Given the description of an element on the screen output the (x, y) to click on. 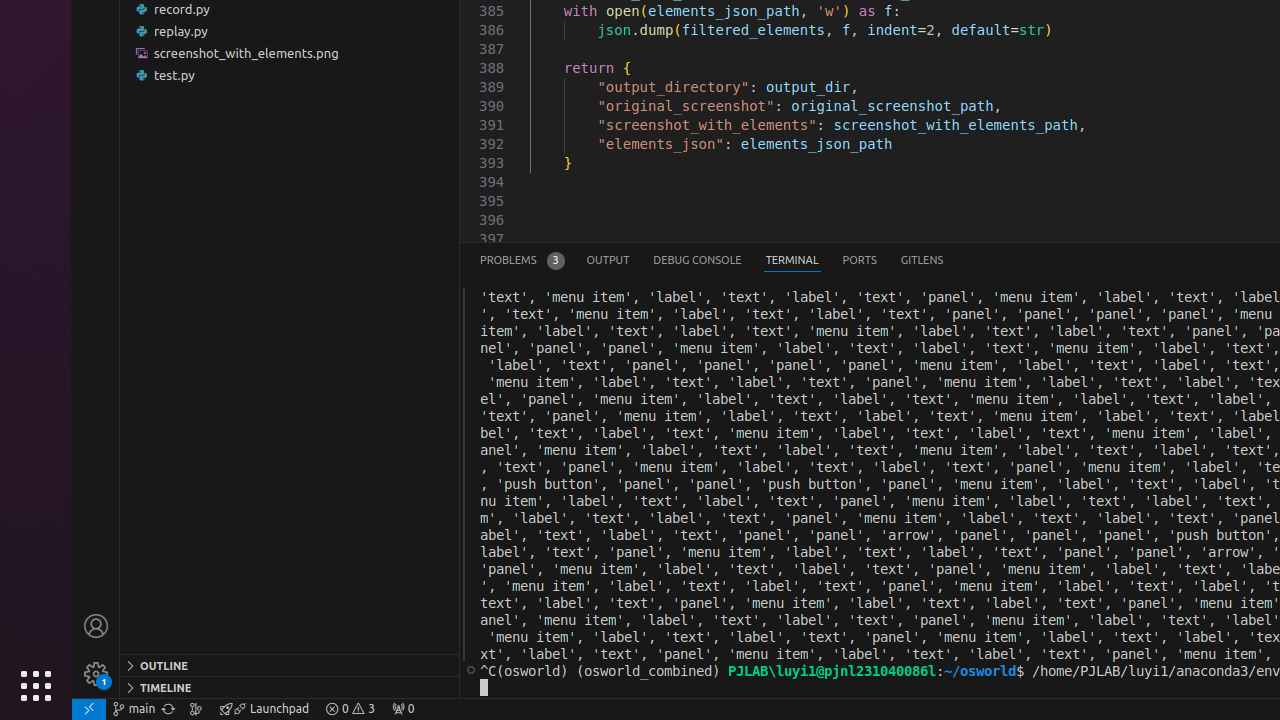
rocket gitlens-unplug Launchpad, GitLens Launchpad ᴘʀᴇᴠɪᴇᴡ    &mdash;    [$(question)](command:gitlens.launchpad.indicator.action?%22info%22 "What is this?") [$(gear)](command:workbench.action.openSettings?%22gitlens.launchpad%22 "Settings")  |  [$(circle-slash) Hide](command:gitlens.launchpad.indicator.action?%22hide%22 "Hide") --- [Launchpad](command:gitlens.launchpad.indicator.action?%info%22 "Learn about Launchpad") organizes your pull requests into actionable groups to help you focus and keep your team unblocked. It's always accessible using the `GitLens: Open Launchpad` command from the Command Palette. --- [Connect an integration](command:gitlens.showLaunchpad?%7B%22source%22%3A%22launchpad-indicator%22%7D "Connect an integration") to get started. Element type: push-button (264, 709)
Timeline Section Element type: push-button (289, 687)
Outline Section Element type: push-button (289, 665)
Active View Switcher Element type: page-tab-list (712, 260)
GitLens Element type: page-tab (922, 260)
